Given the description of an element on the screen output the (x, y) to click on. 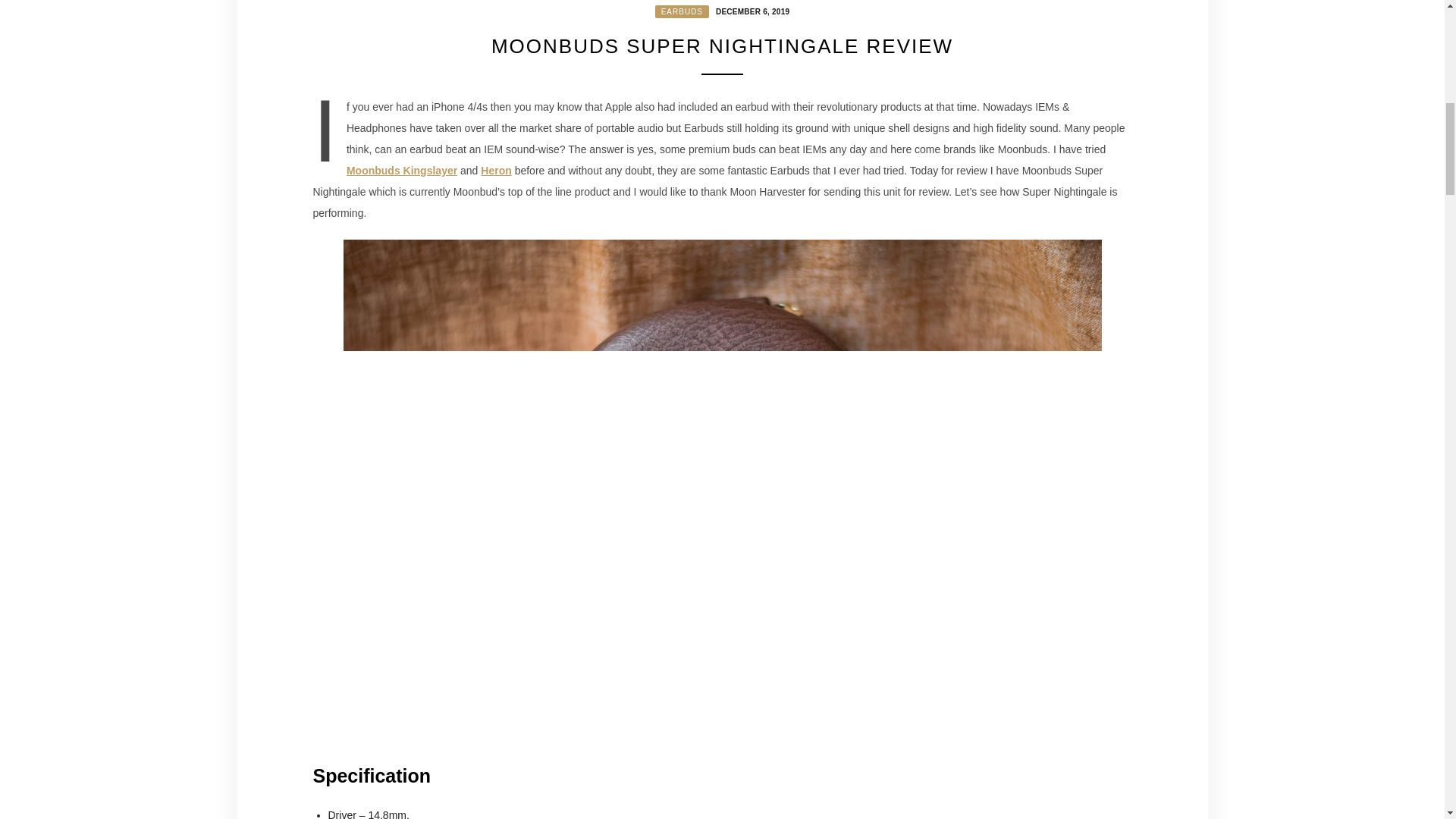
DECEMBER 6, 2019 (750, 10)
Moonbuds Kingslayer (401, 170)
EARBUDS (682, 11)
Heron (495, 170)
